Given the description of an element on the screen output the (x, y) to click on. 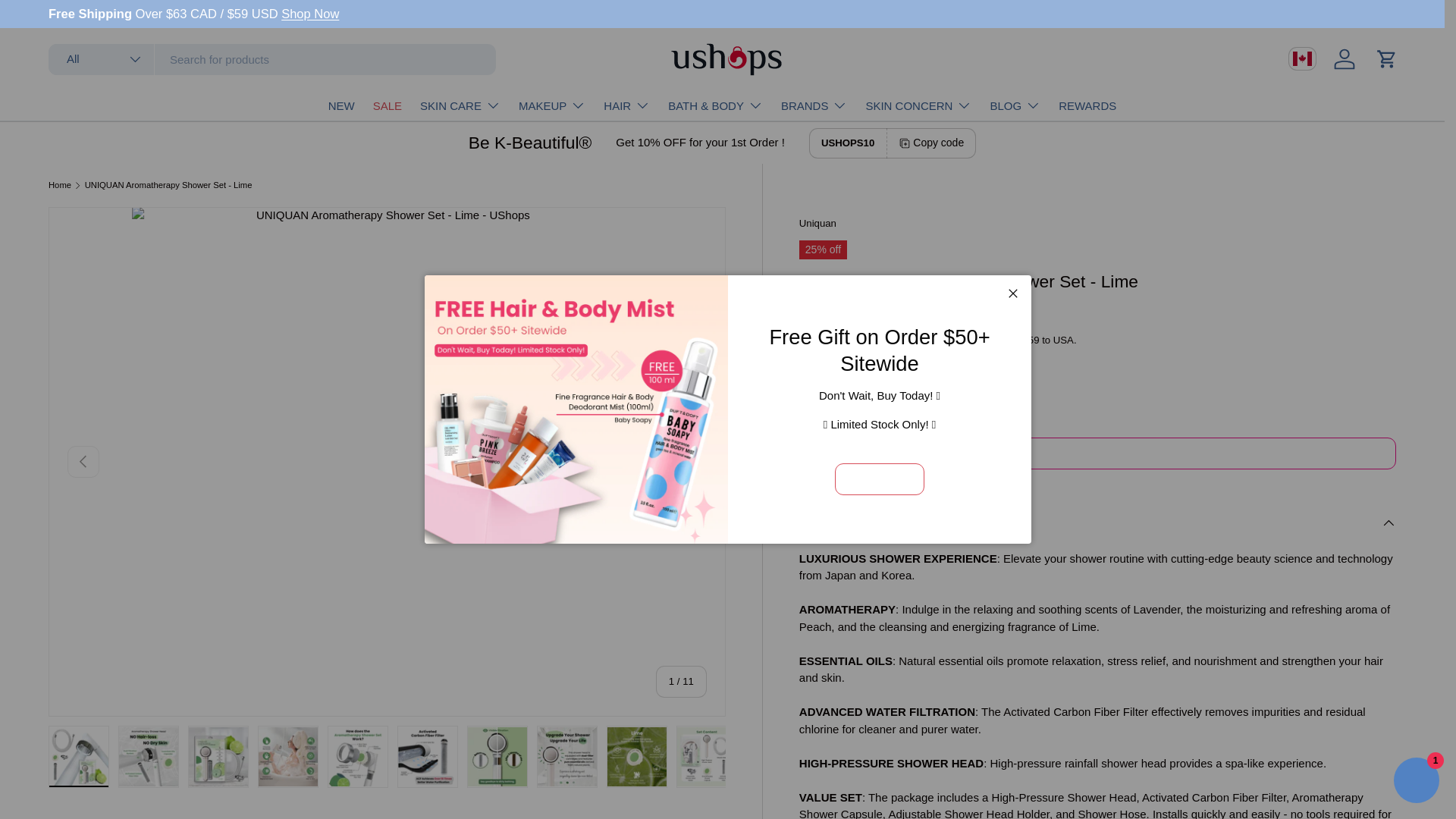
All (101, 59)
Skip to content (68, 21)
SALE (386, 105)
SKIN CARE (460, 105)
Shopify online store chat (1416, 781)
New products (310, 13)
1 (876, 454)
Log in (1344, 59)
NEW (342, 105)
Cart (1386, 59)
Shop Now (310, 13)
